Given the description of an element on the screen output the (x, y) to click on. 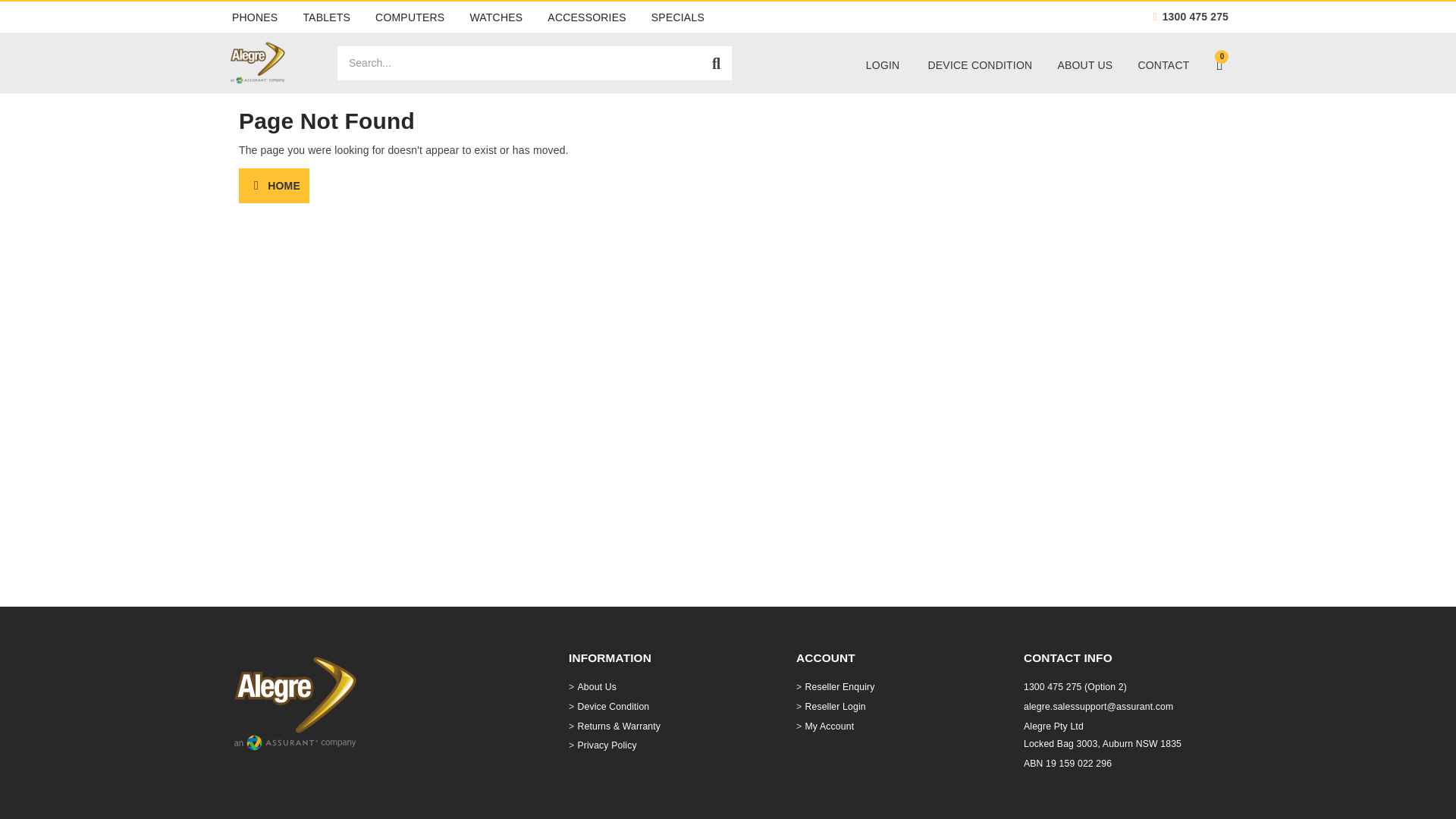
Reseller Login (893, 707)
Alegre Pty Ltd (257, 61)
Alegre Pty Ltd (295, 702)
CONTACT (1162, 64)
0 (1221, 62)
COMPUTERS (410, 16)
SPECIALS (677, 16)
LOGIN (886, 64)
Reseller Enquiry (893, 687)
Home Page (273, 185)
DEVICE CONDITION (980, 64)
My Account (893, 727)
TABLETS (326, 16)
ACCESSORIES (586, 16)
Privacy Policy (665, 746)
